Given the description of an element on the screen output the (x, y) to click on. 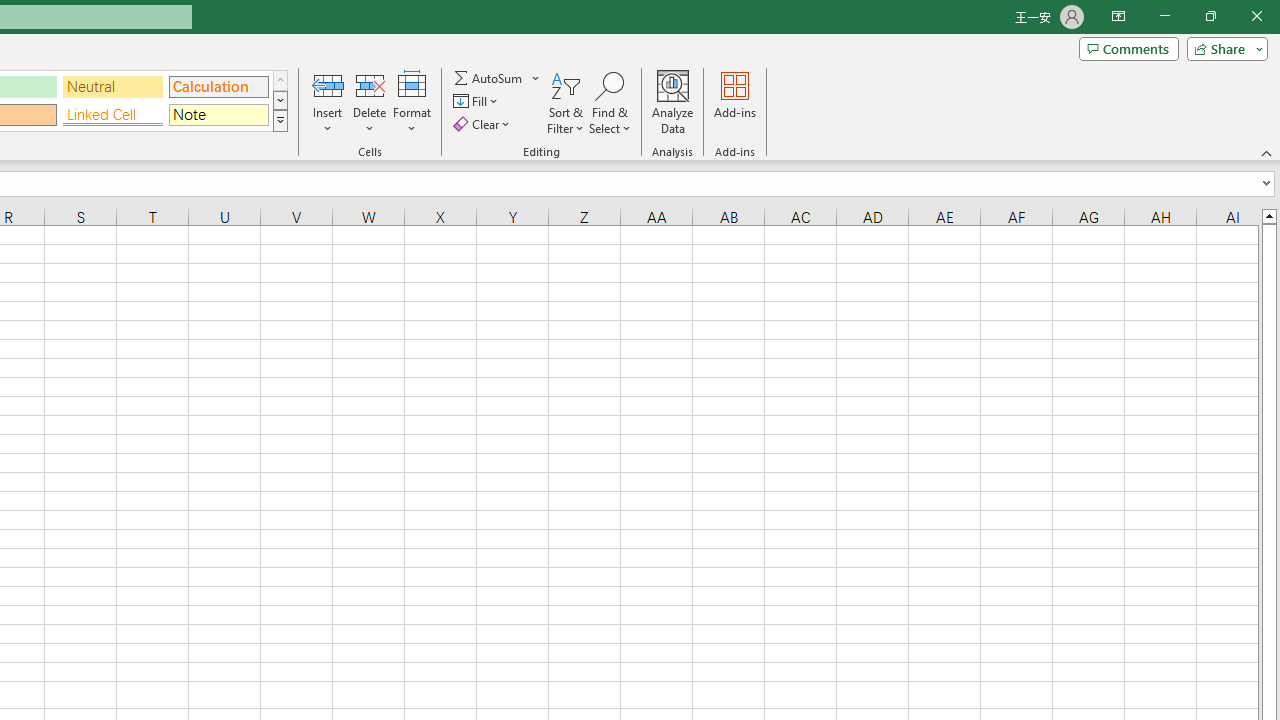
Linked Cell (113, 114)
